Given the description of an element on the screen output the (x, y) to click on. 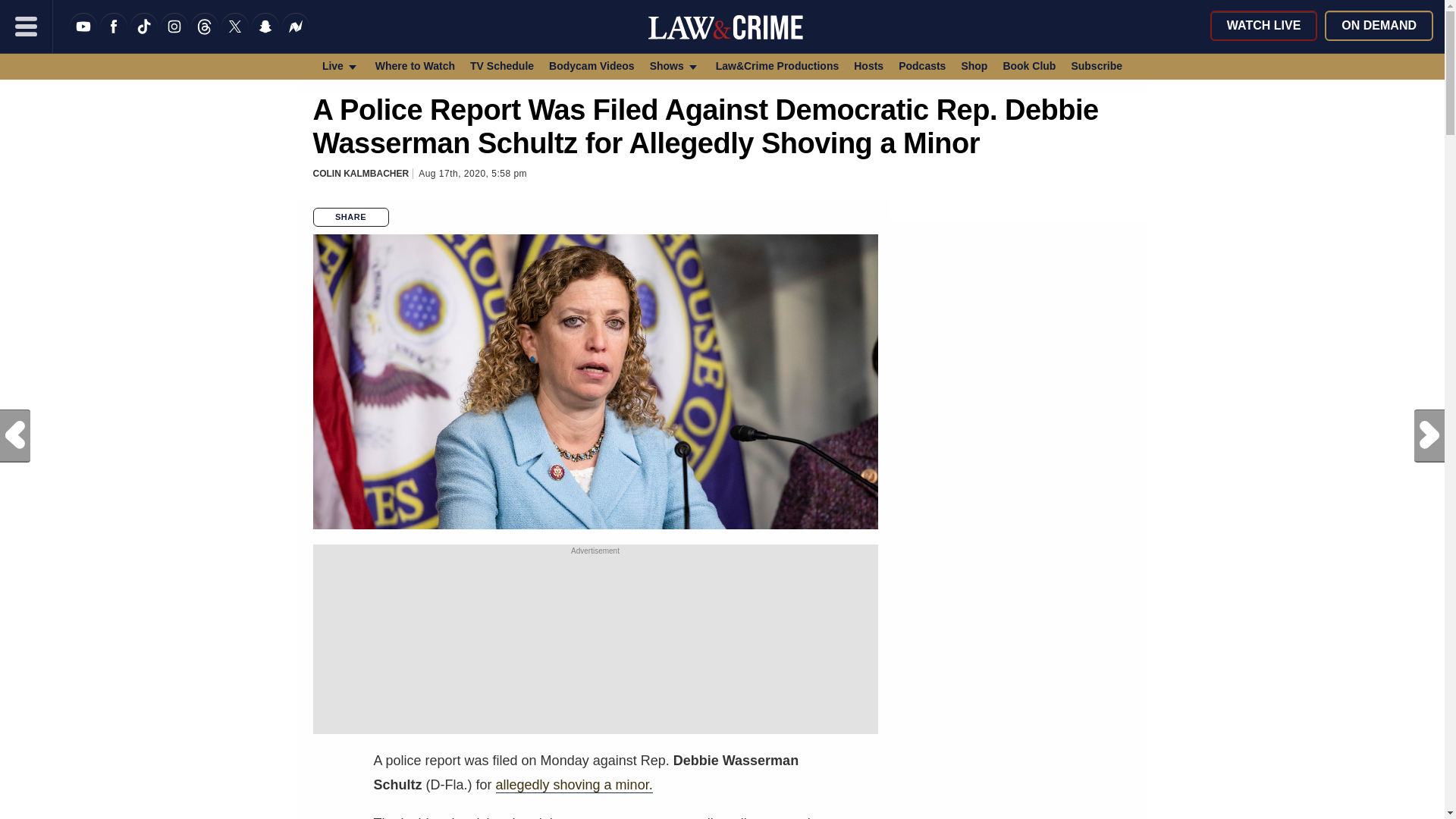
YouTube (83, 35)
News Break (295, 35)
Posts by Colin Kalmbacher (361, 173)
Instagram (173, 35)
Snapchat (265, 35)
Like us on Facebook (114, 35)
Threads (204, 35)
TikTok (144, 35)
